Given the description of an element on the screen output the (x, y) to click on. 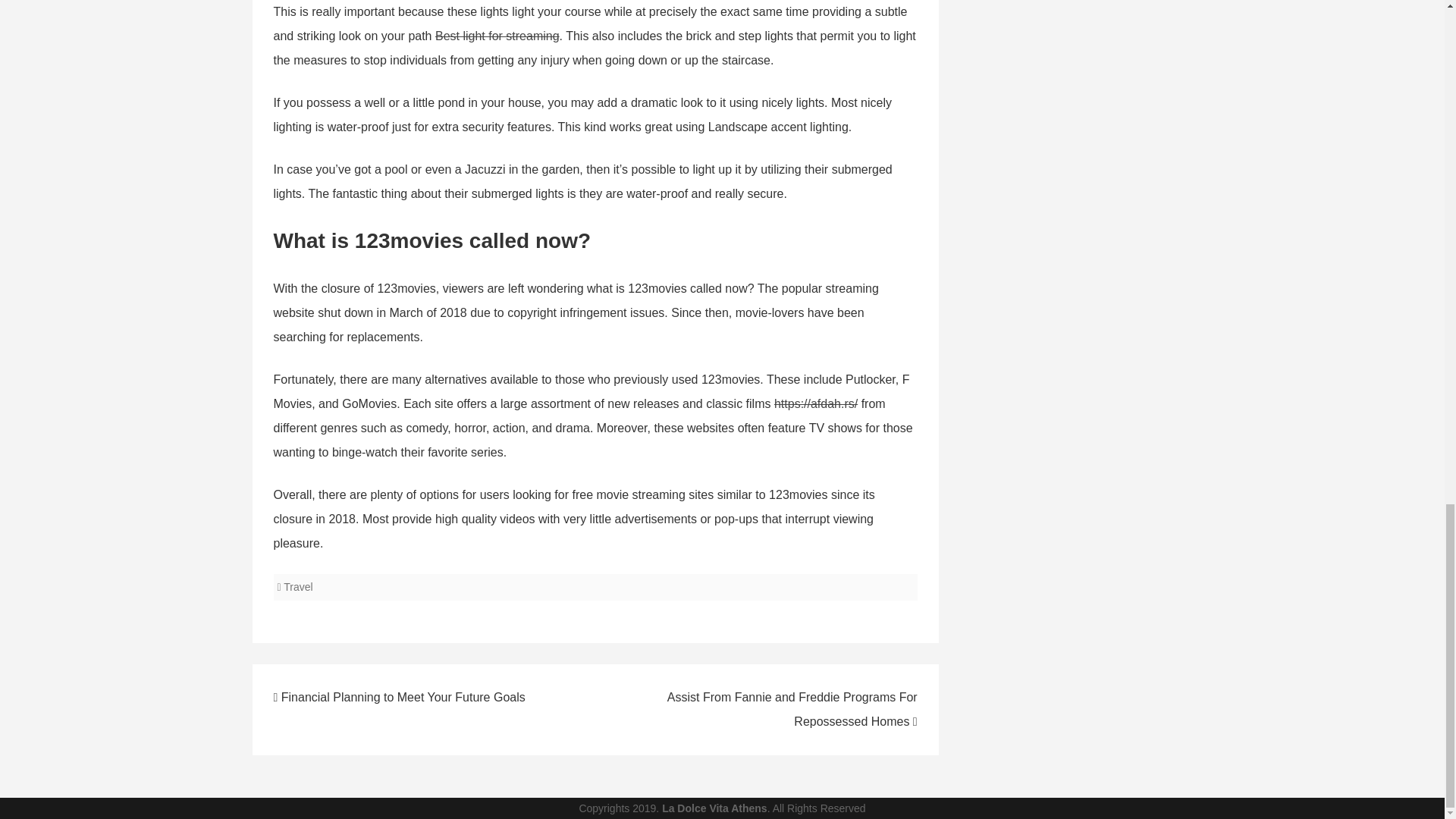
Travel (298, 586)
La Dolce Vita Athens (714, 808)
Financial Planning to Meet Your Future Goals (398, 697)
Best light for streaming (497, 35)
